Given the description of an element on the screen output the (x, y) to click on. 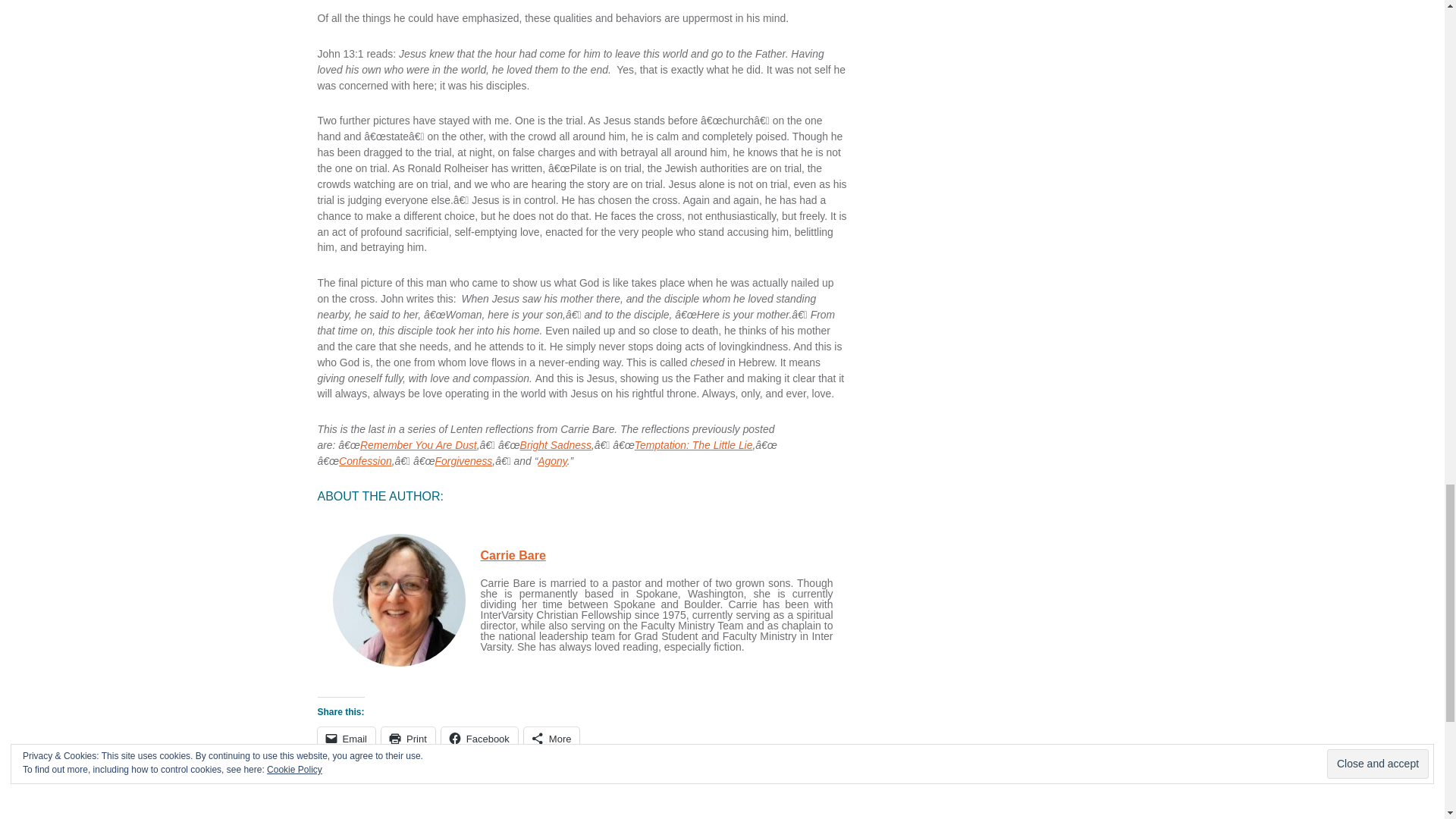
Remember You Are Dust (418, 444)
Agony (551, 460)
Carrie Bare (513, 554)
Click to print (408, 737)
Print (408, 737)
Temptation: The Little Lie (693, 444)
Confession (365, 460)
Forgiveness (464, 460)
Click to email a link to a friend (346, 737)
Facebook (479, 737)
